Given the description of an element on the screen output the (x, y) to click on. 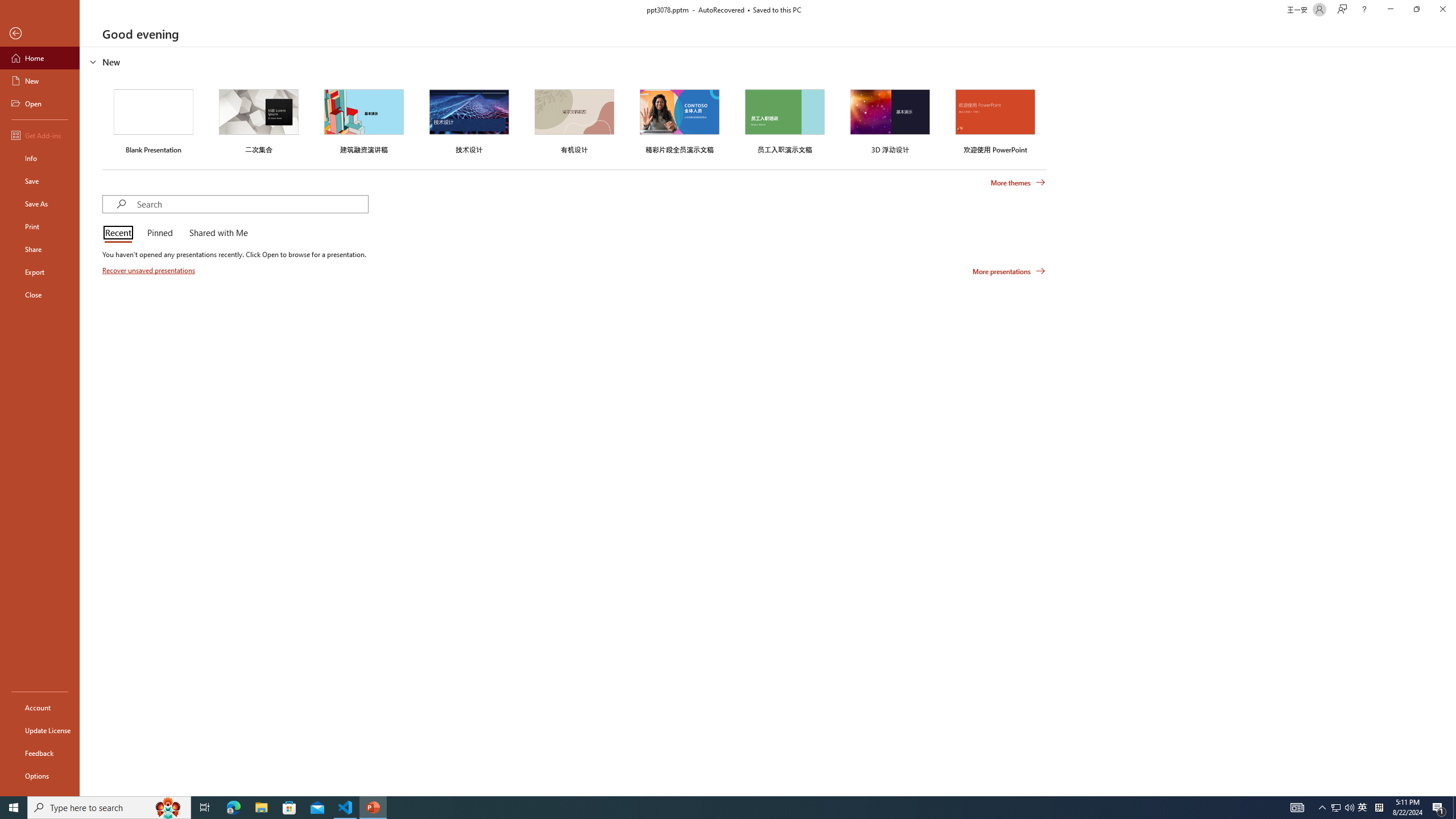
Hide or show region (92, 61)
Recover unsaved presentations (149, 270)
More themes (1018, 182)
Shared with Me (215, 233)
Account (40, 707)
Get Add-ins (40, 134)
More presentations (1008, 270)
Update License (40, 730)
Back (40, 33)
